Given the description of an element on the screen output the (x, y) to click on. 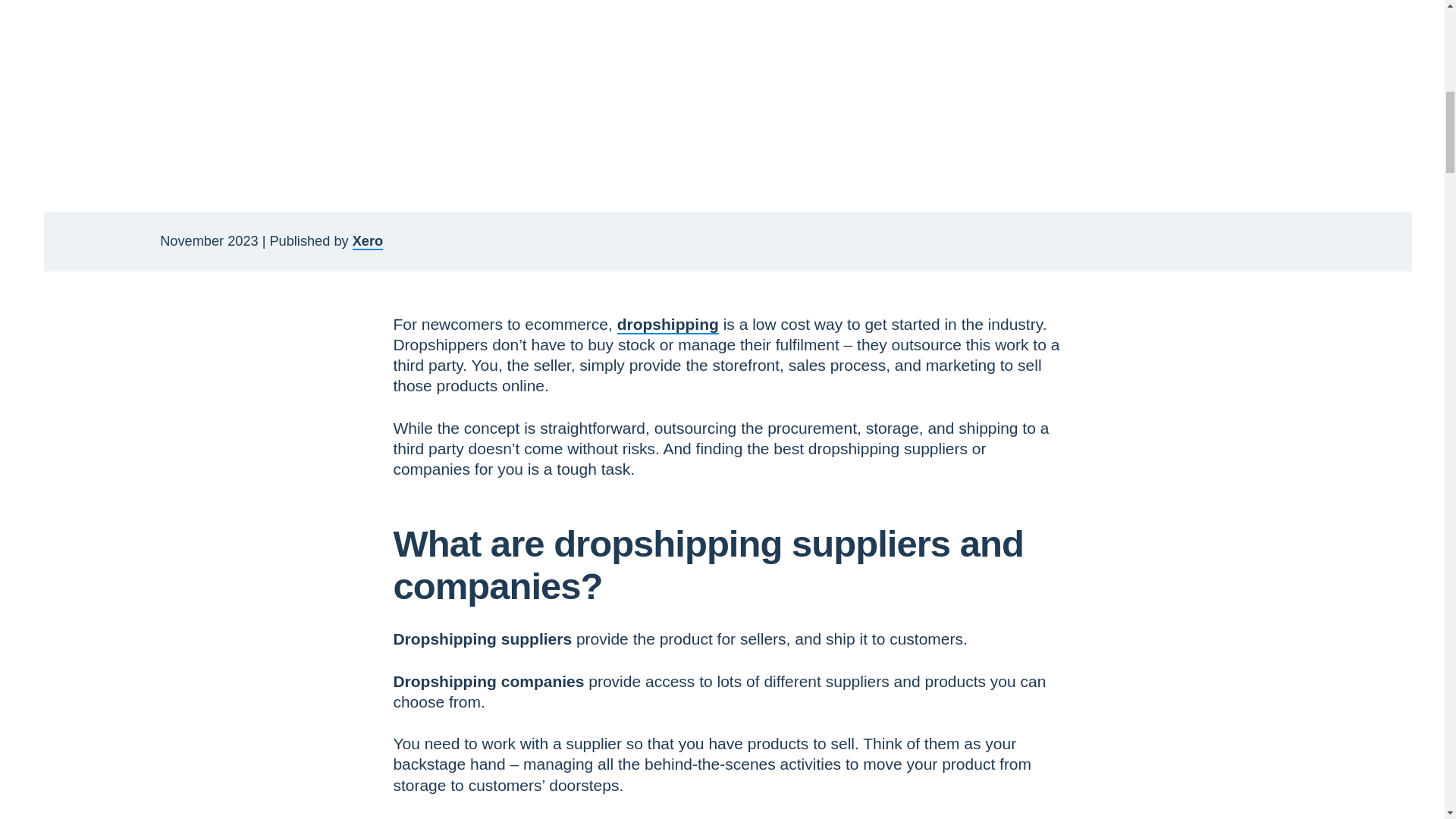
dropshipping (668, 323)
Xero (367, 240)
